Given the description of an element on the screen output the (x, y) to click on. 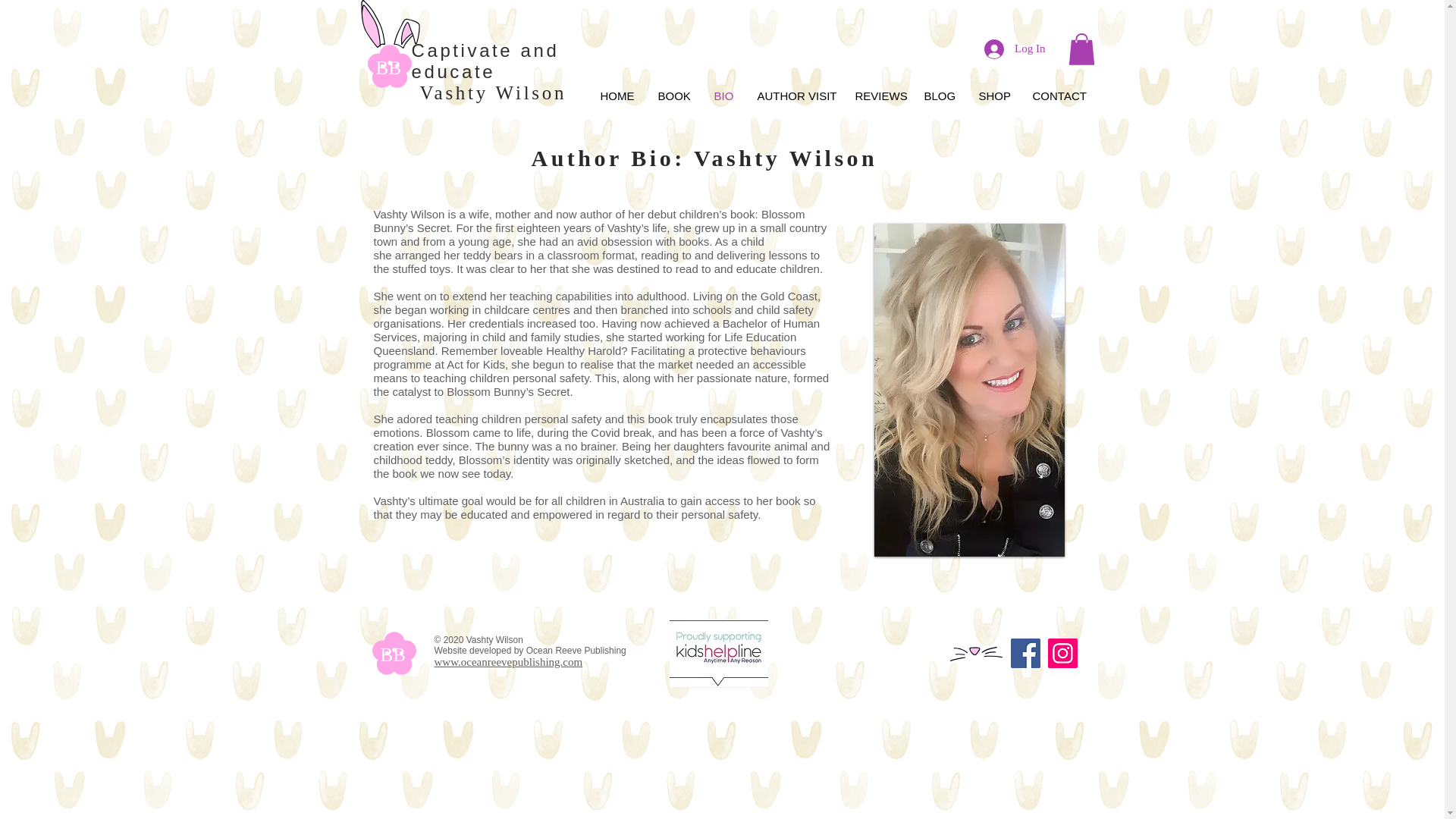
AUTHOR VISIT (794, 96)
Log In (1014, 49)
REVIEWS (877, 96)
www.oceanreevepublishing.com (507, 662)
BIO (722, 96)
HOME (616, 96)
BOOK (673, 96)
BLOG (939, 96)
SHOP (994, 96)
CONTACT (1056, 96)
